Given the description of an element on the screen output the (x, y) to click on. 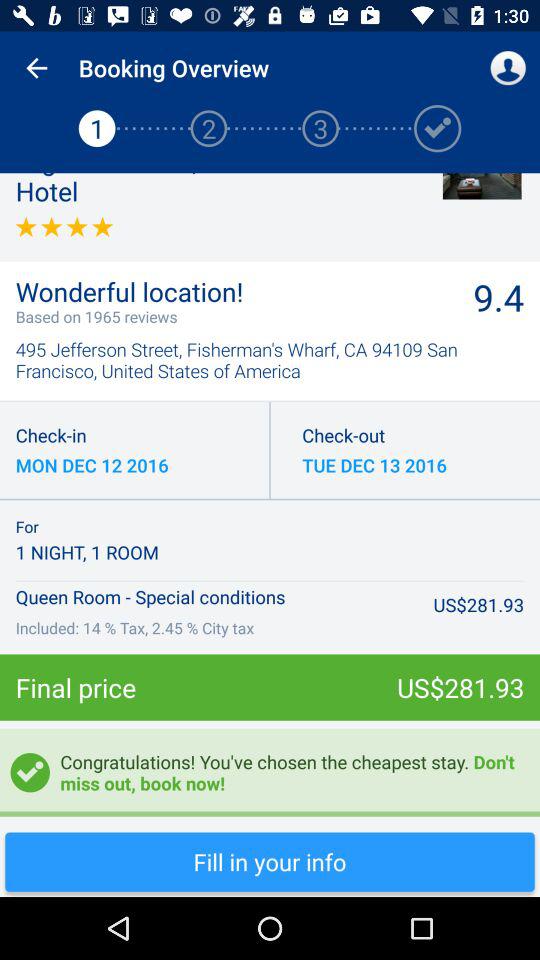
select tick mark which is below final price on the page (30, 772)
select fill in your info (269, 862)
select the image which is right to hotel (482, 185)
